Given the description of an element on the screen output the (x, y) to click on. 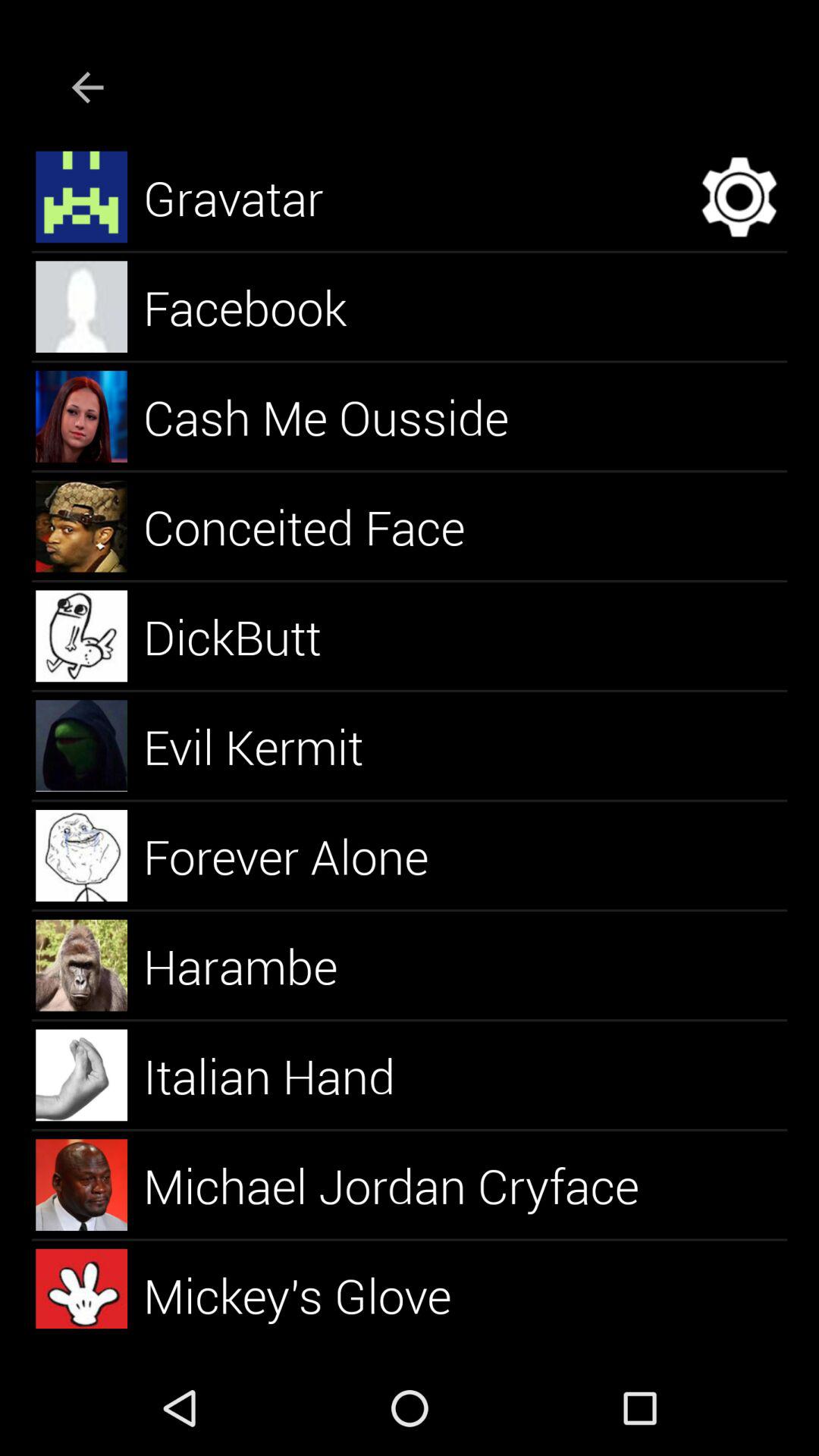
select cash me ousside item (343, 416)
